Given the description of an element on the screen output the (x, y) to click on. 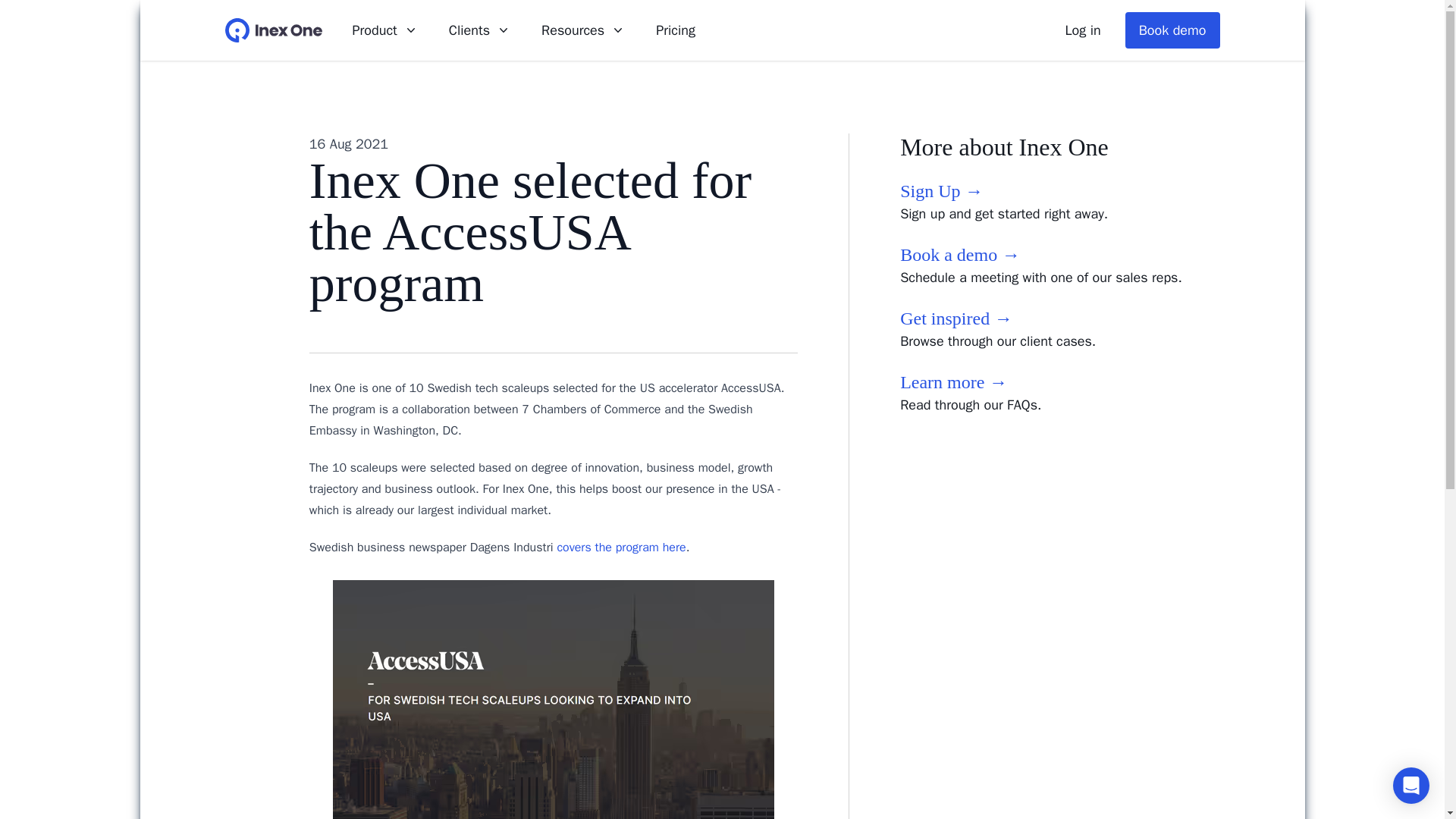
Clients (479, 29)
Learn more (953, 382)
Get inspired (955, 318)
Book demo (1172, 30)
Inex One (272, 30)
Book demo (1172, 30)
Sign Up (940, 190)
Book a demo (959, 254)
Pricing (675, 29)
covers the program here (620, 547)
